Given the description of an element on the screen output the (x, y) to click on. 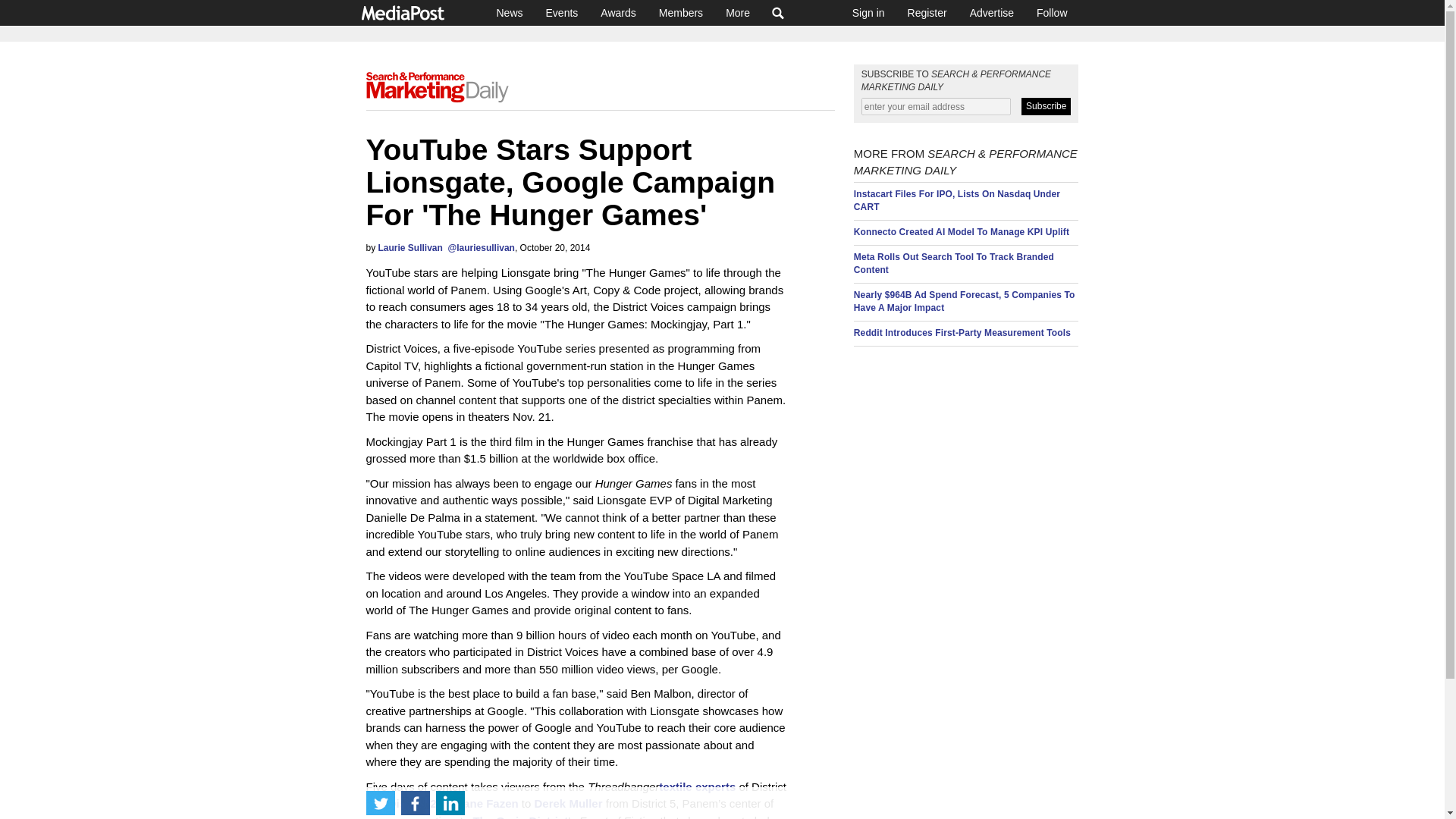
Share on LinkedIn (449, 802)
Subscribe (1046, 106)
News (509, 12)
Share on Facebook (414, 802)
Share on Twitter (379, 802)
